Given the description of an element on the screen output the (x, y) to click on. 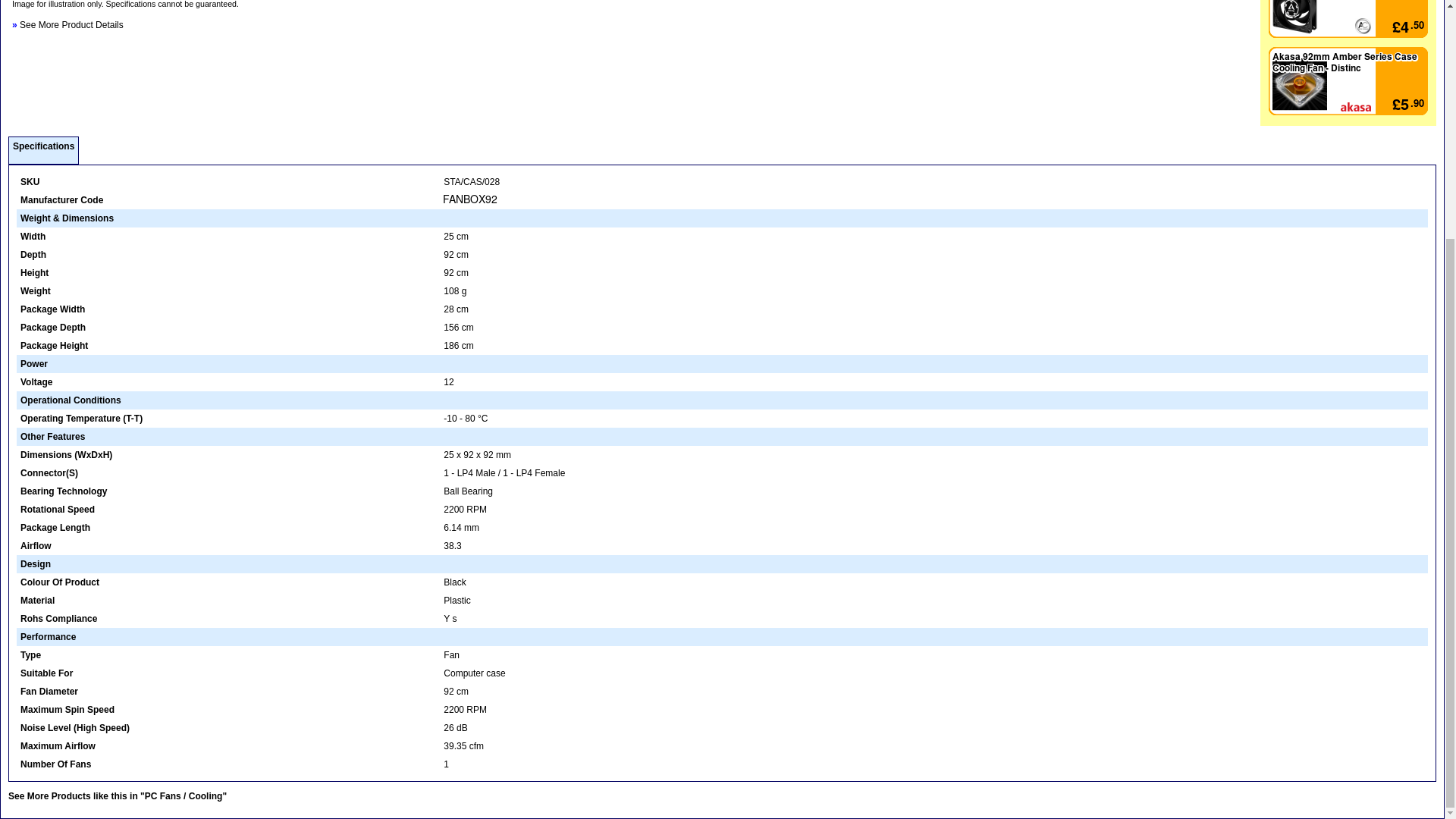
Specifications (43, 145)
